Given the description of an element on the screen output the (x, y) to click on. 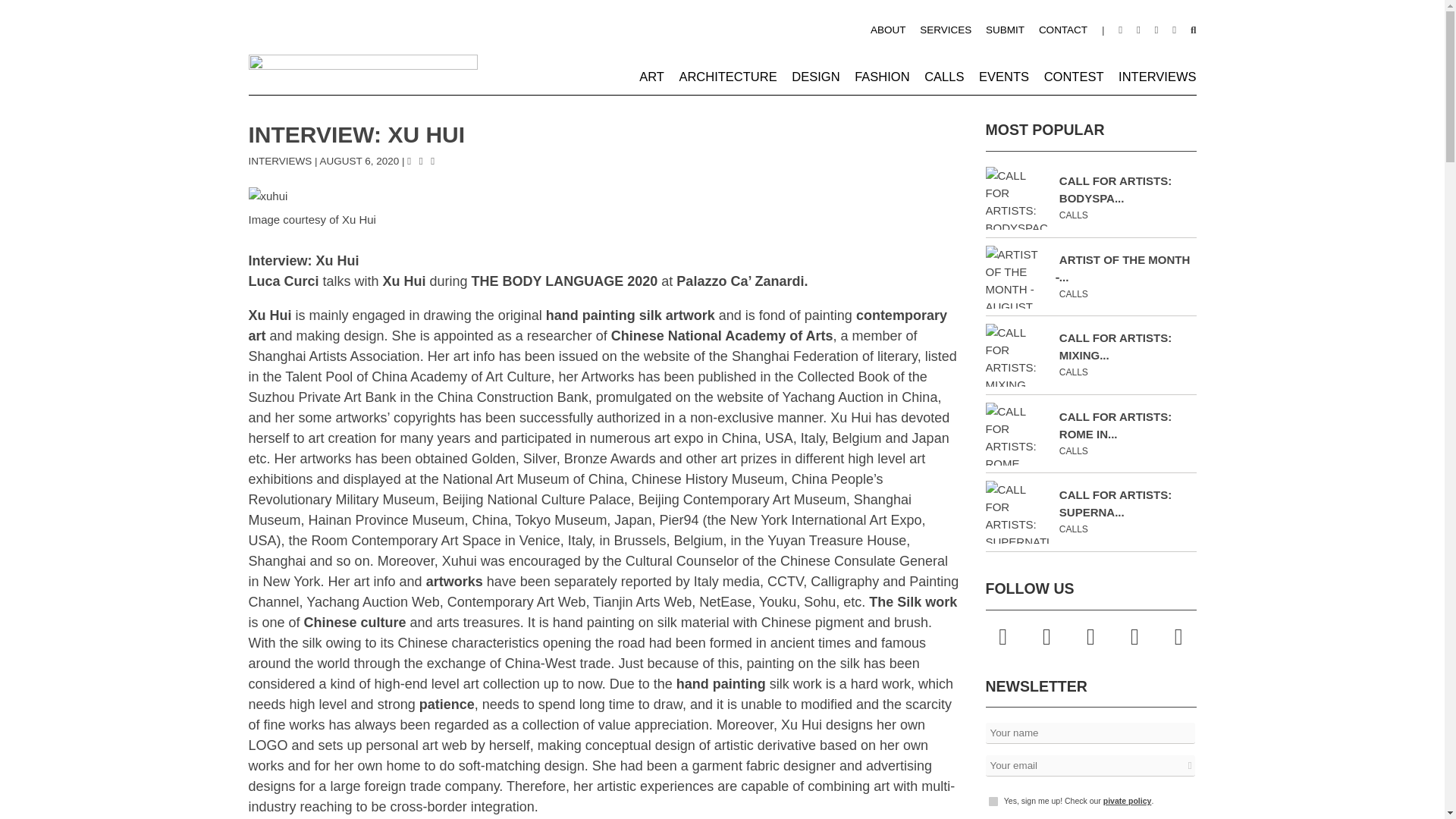
EVENTS (1003, 76)
SERVICES (945, 30)
ABOUT (887, 30)
SUBMIT (1005, 30)
CONTACT (1063, 30)
ART (651, 76)
INTERVIEWS (1156, 76)
ARCHITECTURE (727, 76)
CONTEST (1073, 76)
INTERVIEWS (280, 161)
